Given the description of an element on the screen output the (x, y) to click on. 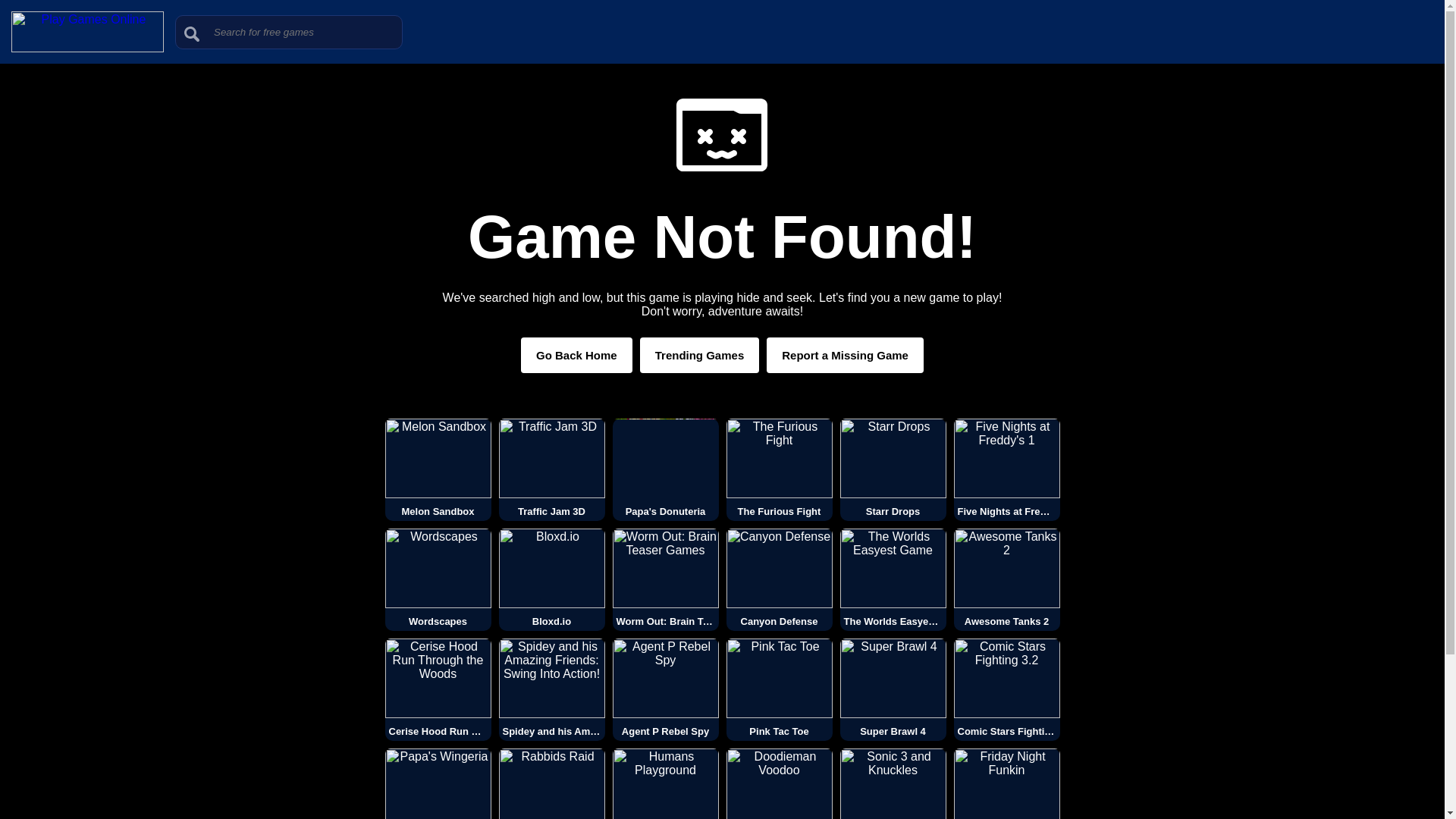
Melon Sandbox (438, 469)
Report a Missing Game (845, 355)
Sonic 3 and Knuckles (893, 783)
Friday Night Funkin (1006, 783)
Play Games Online (87, 47)
Awesome Tanks 2 (1006, 579)
Doodieman Voodoo (779, 783)
Canyon Defense (779, 579)
The Worlds Easyest Game (893, 579)
Papa's Wingeria (438, 783)
Super Brawl 4 (893, 689)
Go Back Home (576, 355)
Humans Playground (665, 783)
Pink Tac Toe (779, 689)
Cerise Hood Run Through the Woods (438, 689)
